Given the description of an element on the screen output the (x, y) to click on. 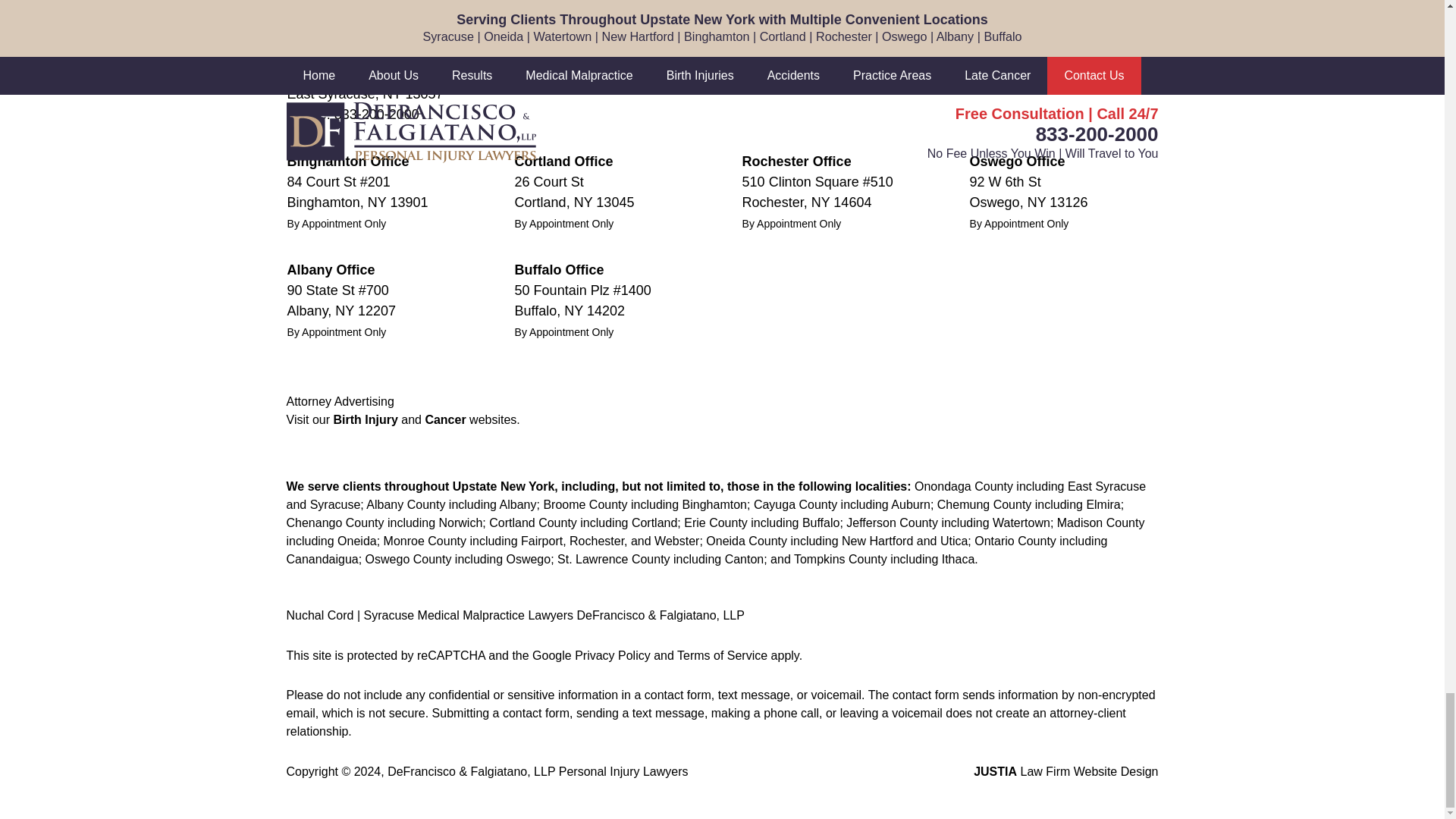
Justia (303, 2)
